Given the description of an element on the screen output the (x, y) to click on. 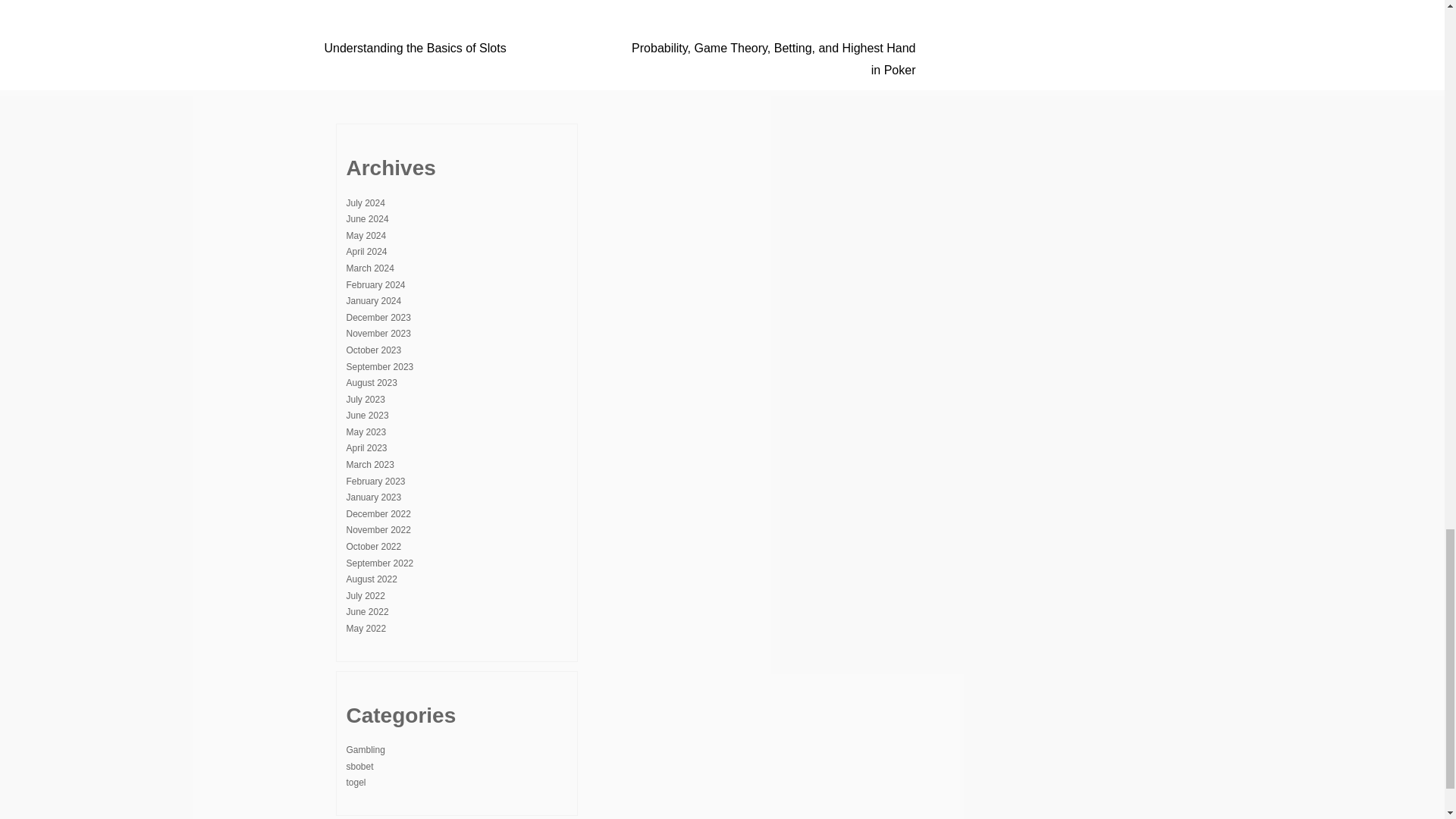
January 2023 (373, 497)
November 2023 (378, 333)
March 2024 (369, 267)
May 2023 (365, 431)
December 2023 (378, 317)
Probability, Game Theory, Betting, and Highest Hand in Poker (773, 58)
January 2024 (373, 300)
September 2023 (379, 366)
October 2022 (373, 546)
February 2024 (375, 285)
February 2023 (375, 480)
June 2024 (367, 218)
May 2024 (365, 235)
October 2023 (373, 349)
April 2024 (366, 251)
